Given the description of an element on the screen output the (x, y) to click on. 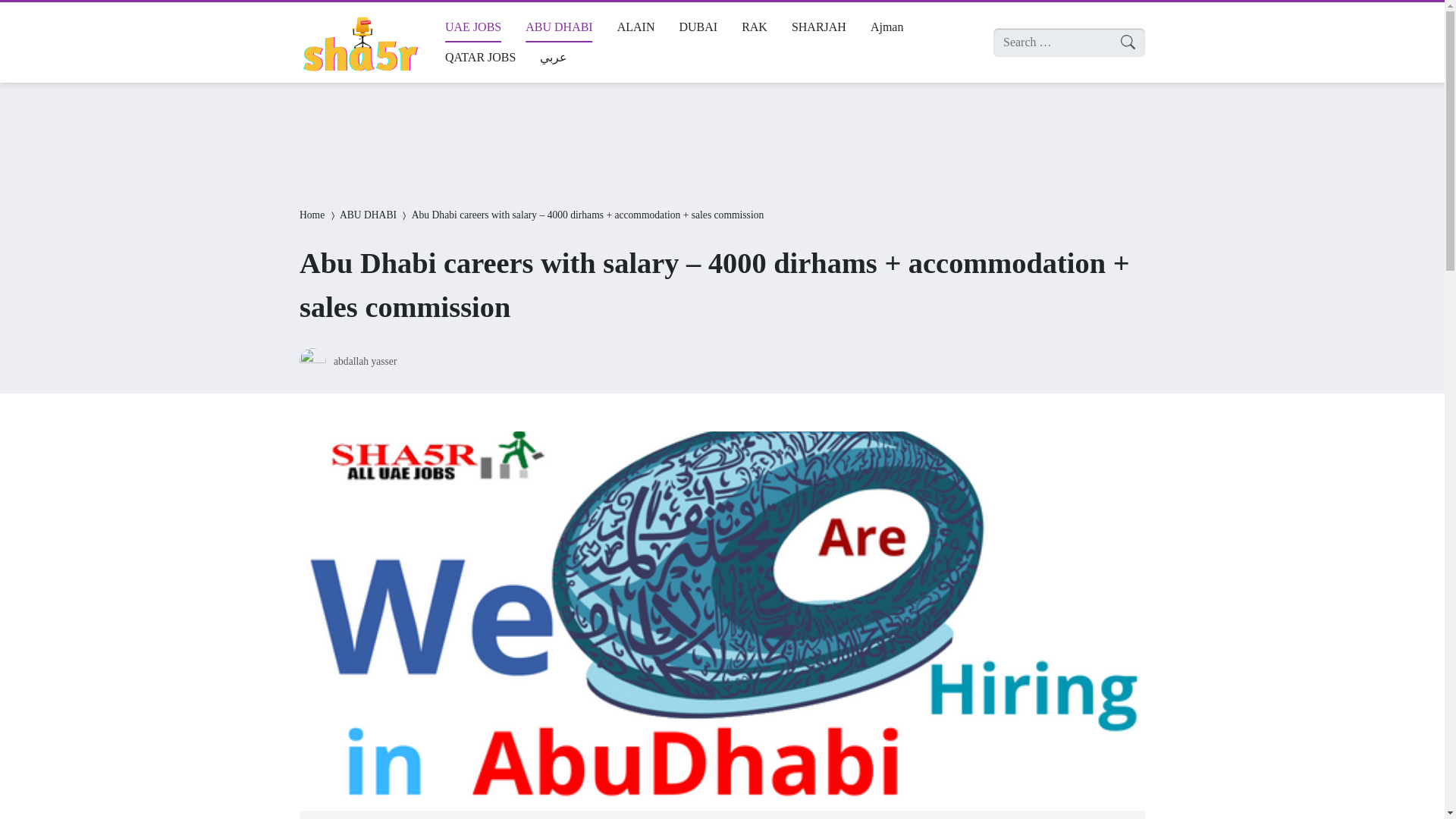
abdallah yasser (364, 360)
ABU DHABI (558, 27)
RAK (753, 27)
ALAIN (635, 27)
DUBAI (697, 27)
ABU DHABI (367, 214)
Search (26, 14)
Ajman (887, 27)
QATAR JOBS (479, 57)
UAE JOBS (472, 27)
Show all posts by author (364, 360)
sha5r (359, 42)
Home (311, 214)
SHARJAH (818, 27)
